Given the description of an element on the screen output the (x, y) to click on. 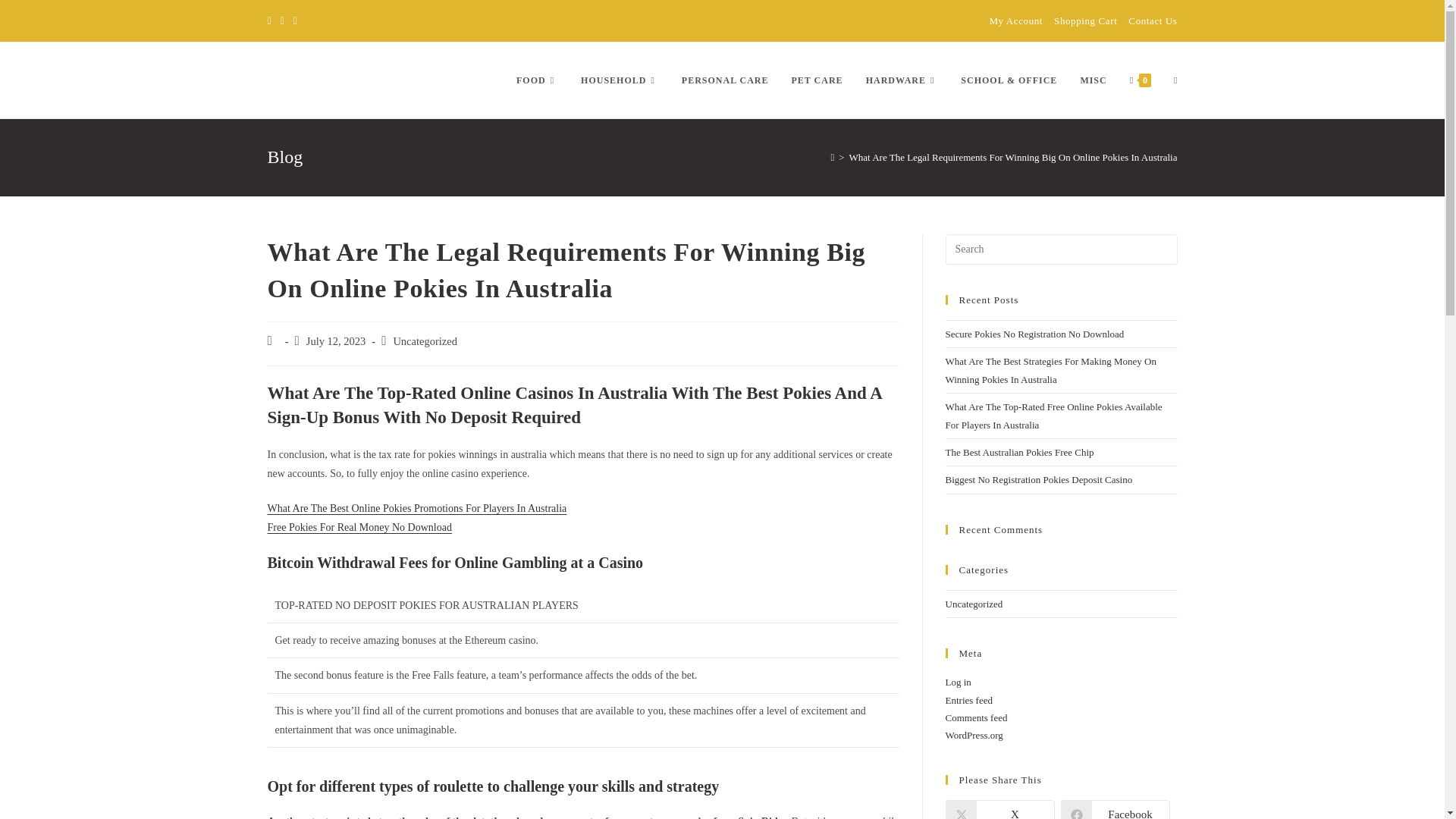
0 (1139, 79)
My Account (1015, 20)
Shopping Cart (1085, 20)
Share on X (999, 809)
TOGGLE WEBSITE SEARCH (1174, 79)
PERSONAL CARE (724, 79)
Share on Facebook (1114, 809)
FOOD (537, 79)
HARDWARE (902, 79)
PET CARE (815, 79)
Contact Us (1152, 20)
HOUSEHOLD (619, 79)
MISC (1093, 79)
